Given the description of an element on the screen output the (x, y) to click on. 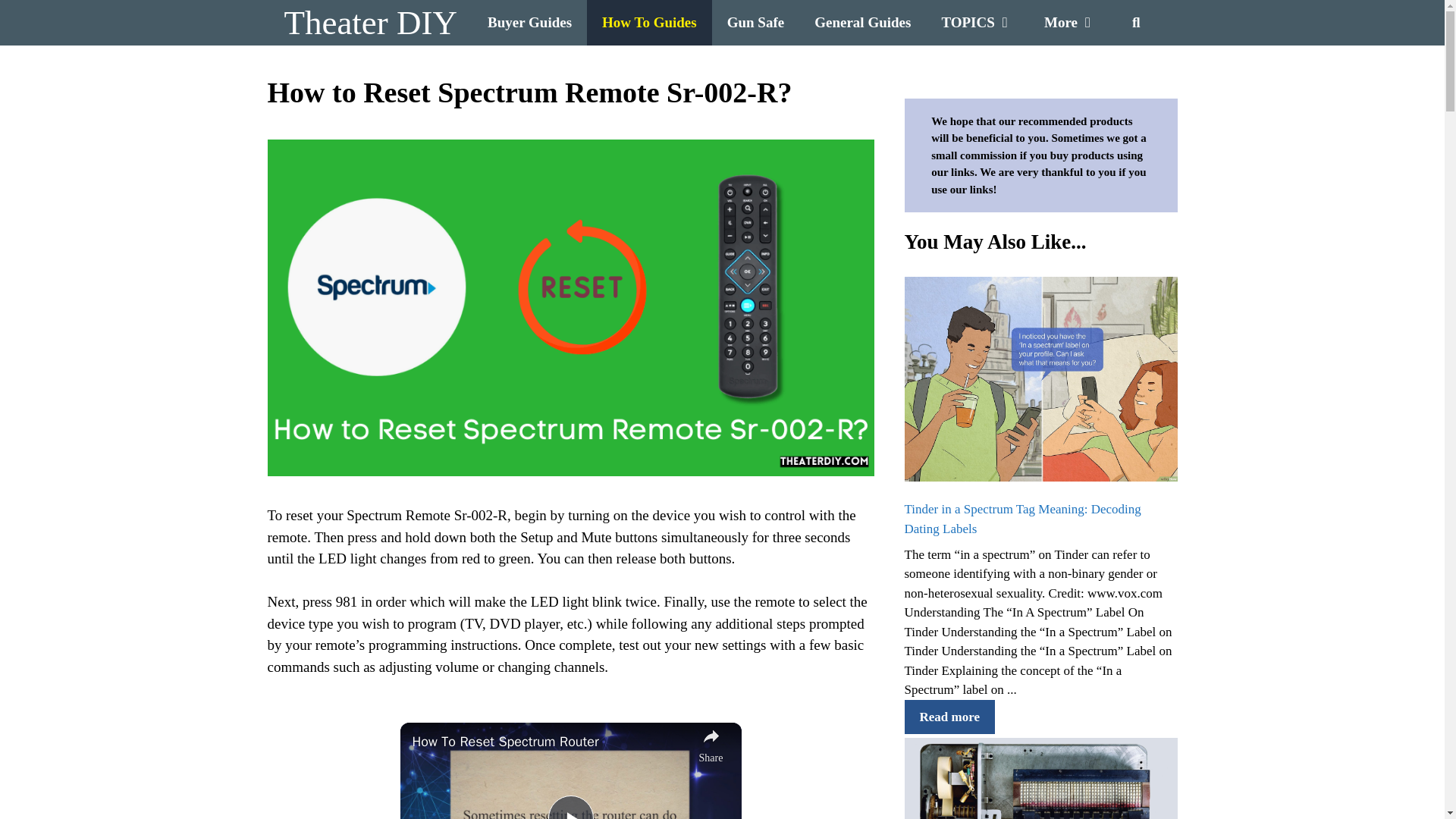
TOPICS (977, 22)
Buyer Guides (528, 22)
Play Video (569, 807)
Gun Safe (755, 22)
Theater DIY (370, 22)
How To Guides (648, 22)
General Guides (862, 22)
Play Video (569, 807)
More (1070, 22)
